Given the description of an element on the screen output the (x, y) to click on. 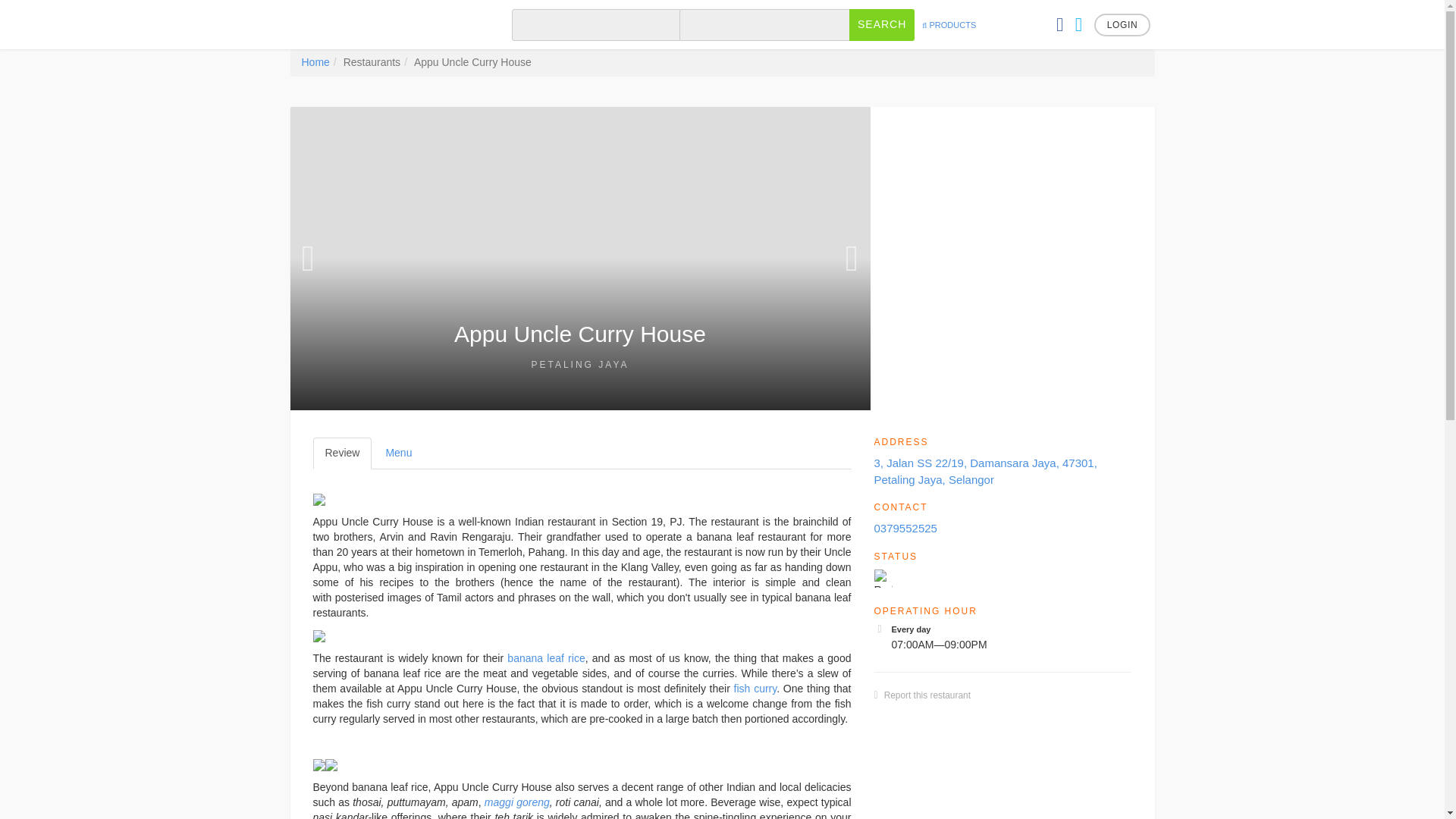
Report this restaurant (927, 695)
banana leaf rice (545, 657)
SEARCH (881, 24)
Review (342, 453)
fish curry (755, 688)
Menu (397, 453)
Foodadvisor.my (381, 24)
LOGIN (1122, 24)
Home (315, 61)
PRODUCTS (948, 24)
maggi goreng (517, 802)
Pork-free (882, 578)
0379552525 (904, 527)
